Given the description of an element on the screen output the (x, y) to click on. 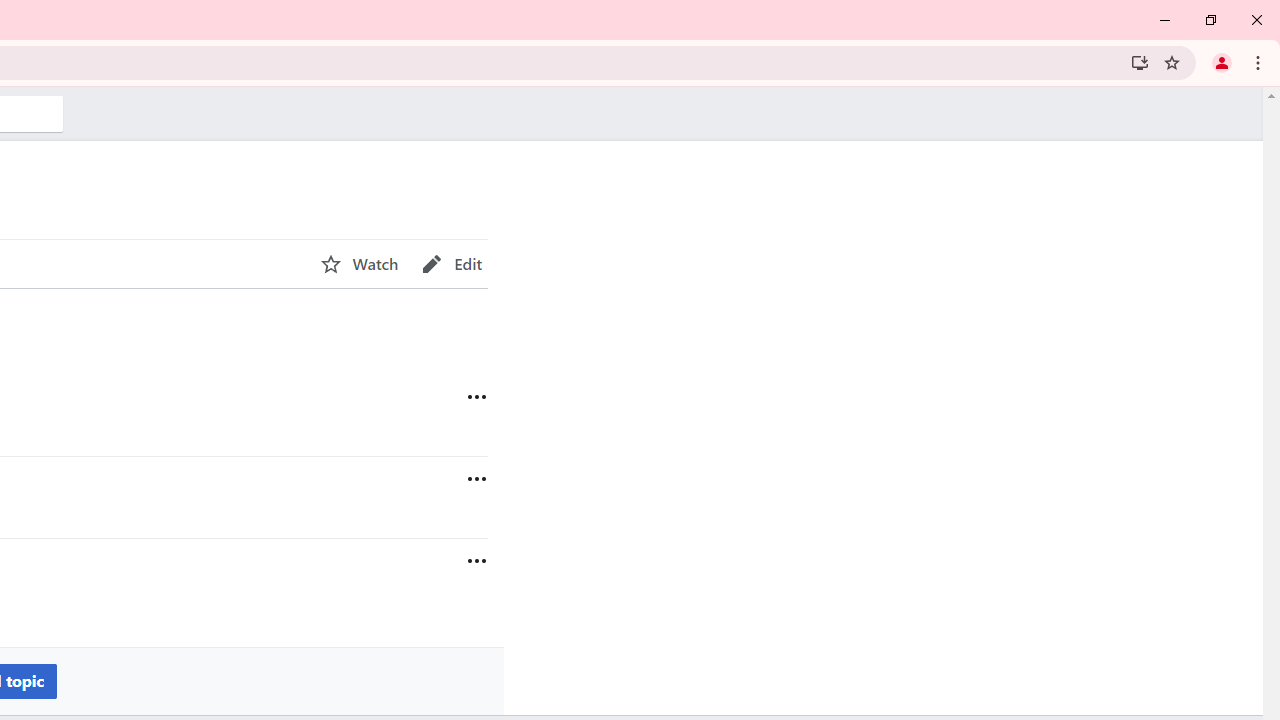
Edit (452, 264)
Install Wikipedia (1139, 62)
AutomationID: page-actions-watch (359, 263)
Watch (359, 264)
AutomationID: page-actions-edit (452, 263)
